Given the description of an element on the screen output the (x, y) to click on. 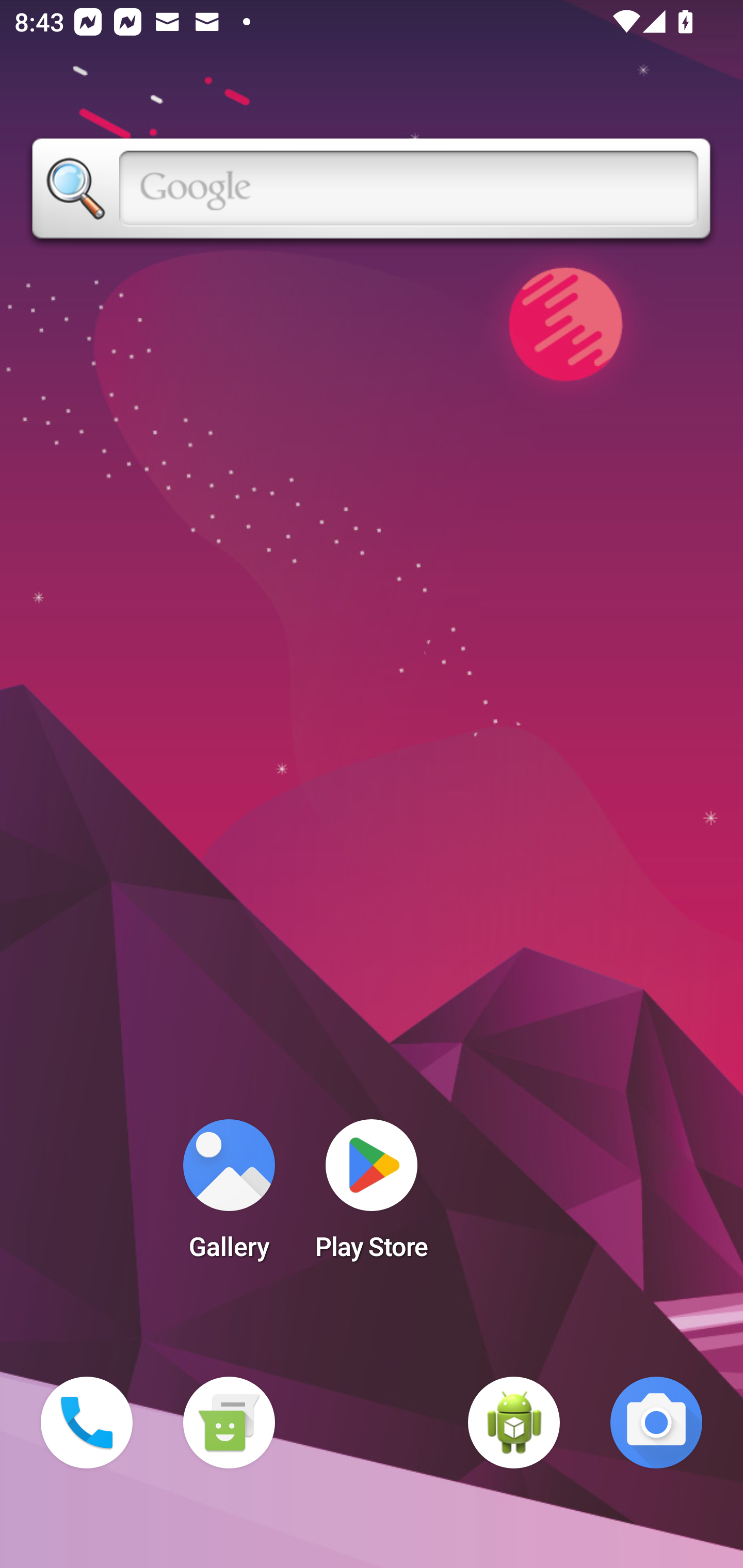
Gallery (228, 1195)
Play Store (371, 1195)
Phone (86, 1422)
Messaging (228, 1422)
WebView Browser Tester (513, 1422)
Camera (656, 1422)
